Given the description of an element on the screen output the (x, y) to click on. 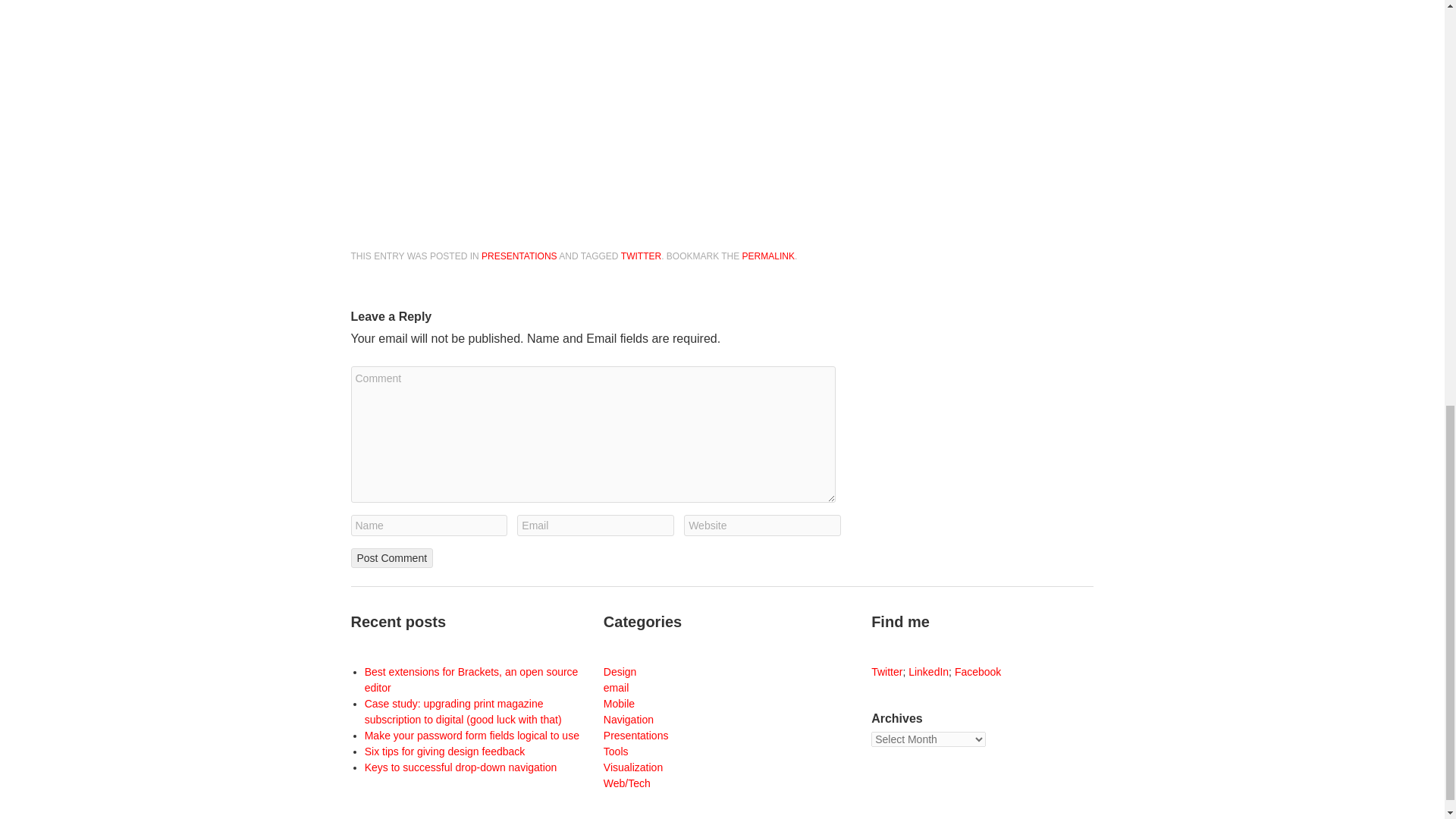
PERMALINK (768, 255)
Permalink to Twitter and Non-Profits (768, 255)
PRESENTATIONS (519, 255)
TWITTER (641, 255)
Post Comment (391, 557)
